Given the description of an element on the screen output the (x, y) to click on. 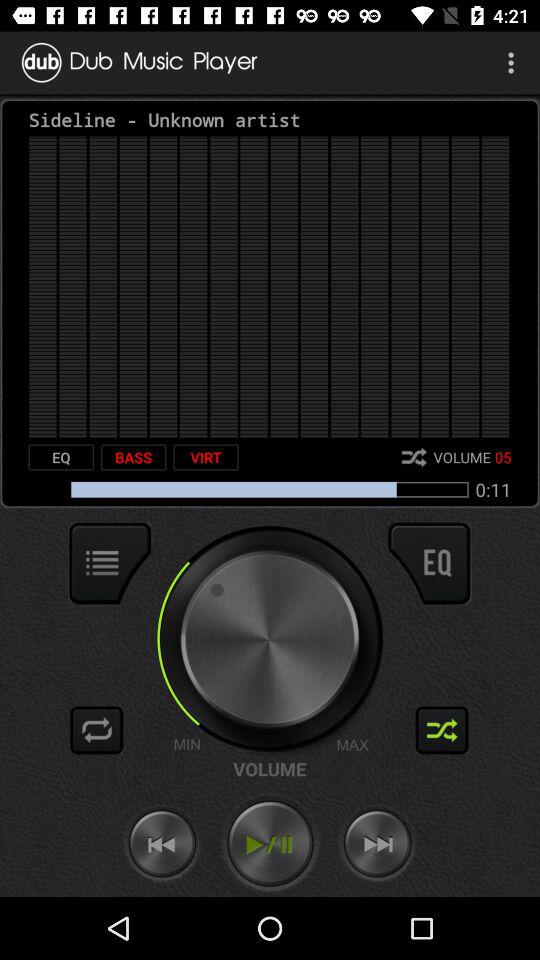
move reverse icon (162, 844)
